Given the description of an element on the screen output the (x, y) to click on. 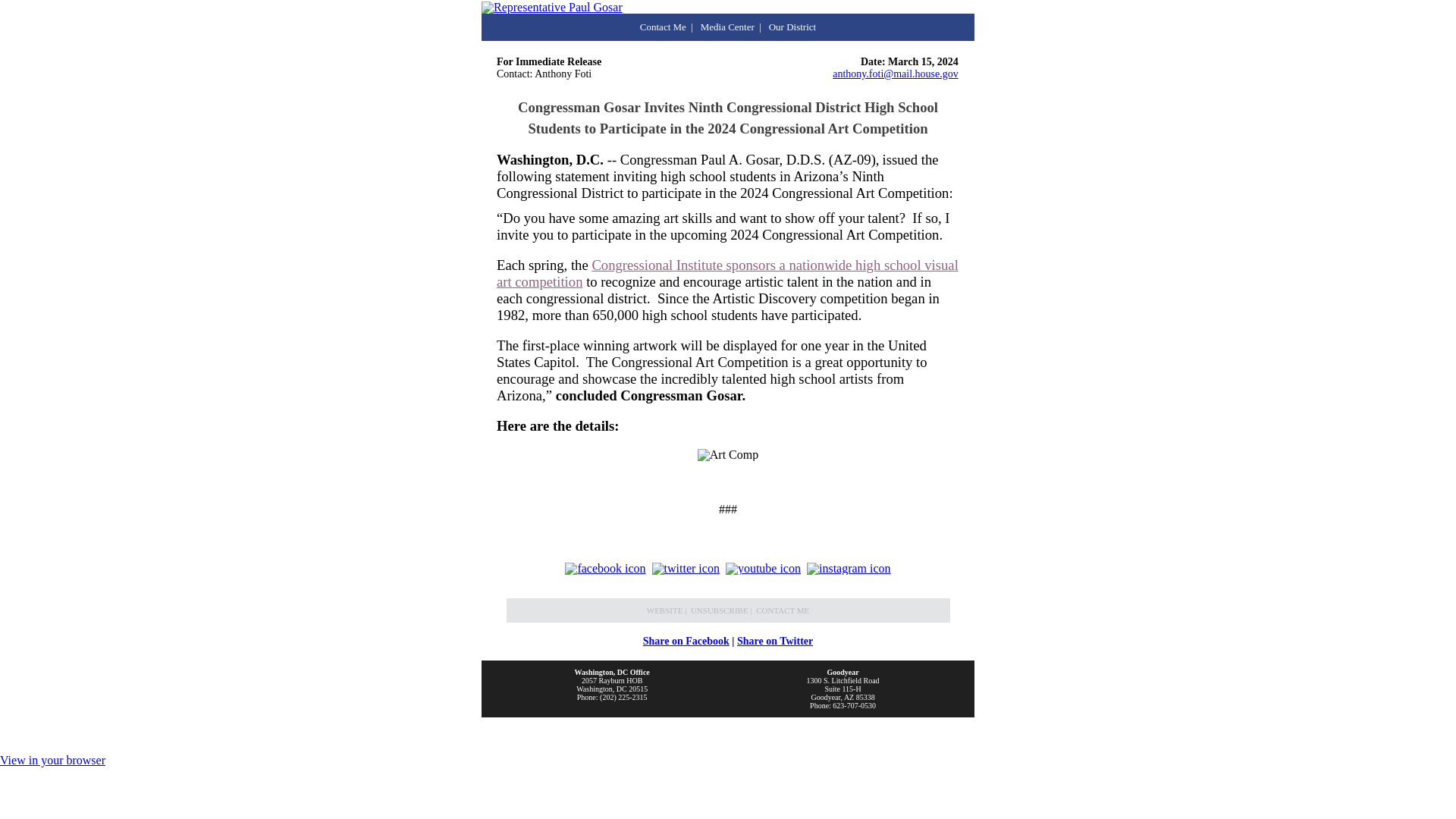
Contact Me (662, 26)
Our District (791, 26)
Share on Facebook (686, 641)
WEBSITE (664, 610)
CONTACT ME (782, 610)
UNSUBSCRIBE (719, 610)
Media Center (727, 26)
Share on Twitter (774, 641)
View in your browser (52, 759)
